Given the description of an element on the screen output the (x, y) to click on. 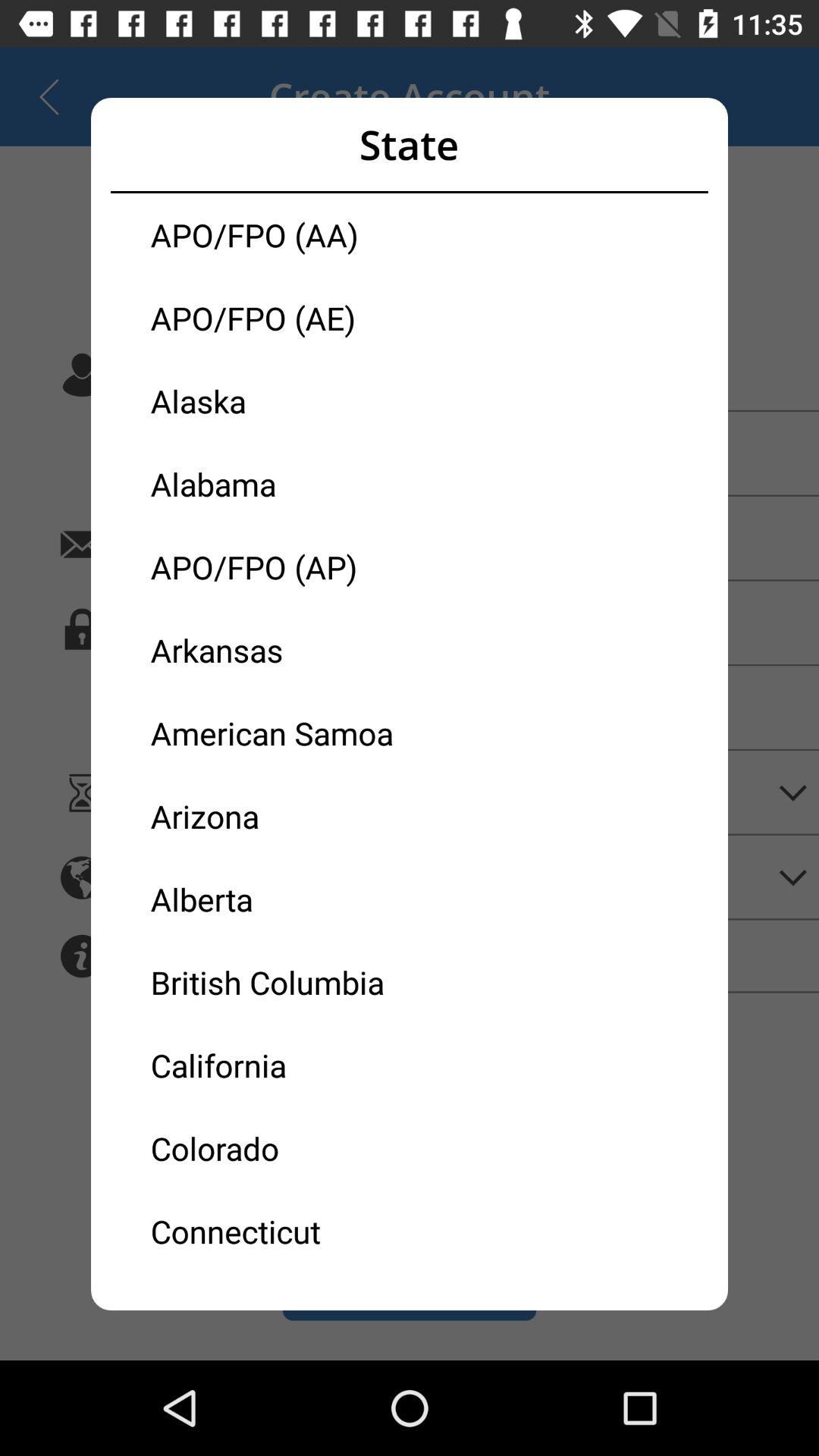
press the alaska icon (279, 400)
